Given the description of an element on the screen output the (x, y) to click on. 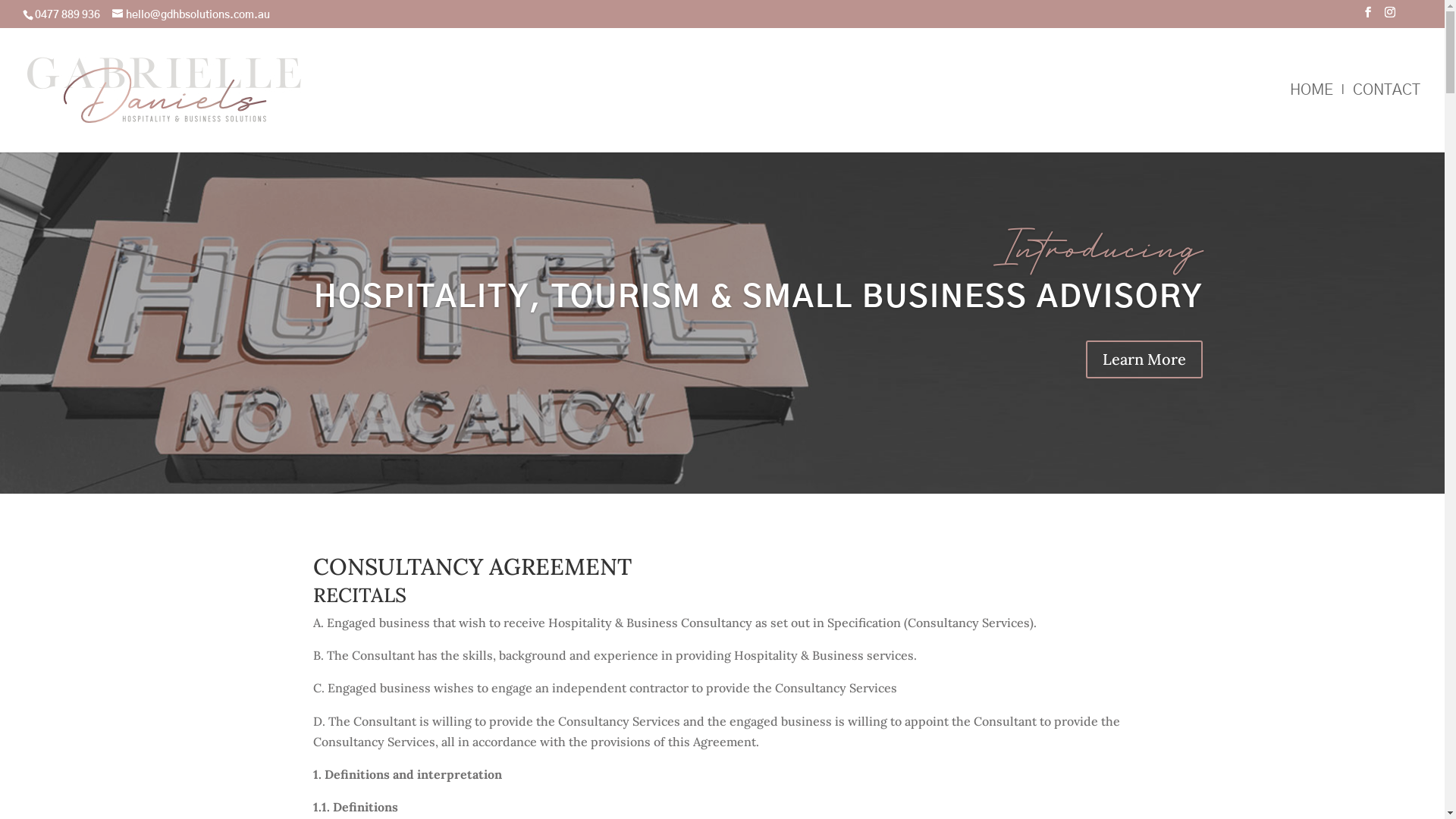
hello@gdhbsolutions.com.au Element type: text (190, 14)
0477 889 936 Element type: text (65, 14)
Introducing Element type: text (1097, 244)
CONTACT Element type: text (1386, 118)
Learn More Element type: text (1143, 359)
HOME Element type: text (1311, 118)
